Given the description of an element on the screen output the (x, y) to click on. 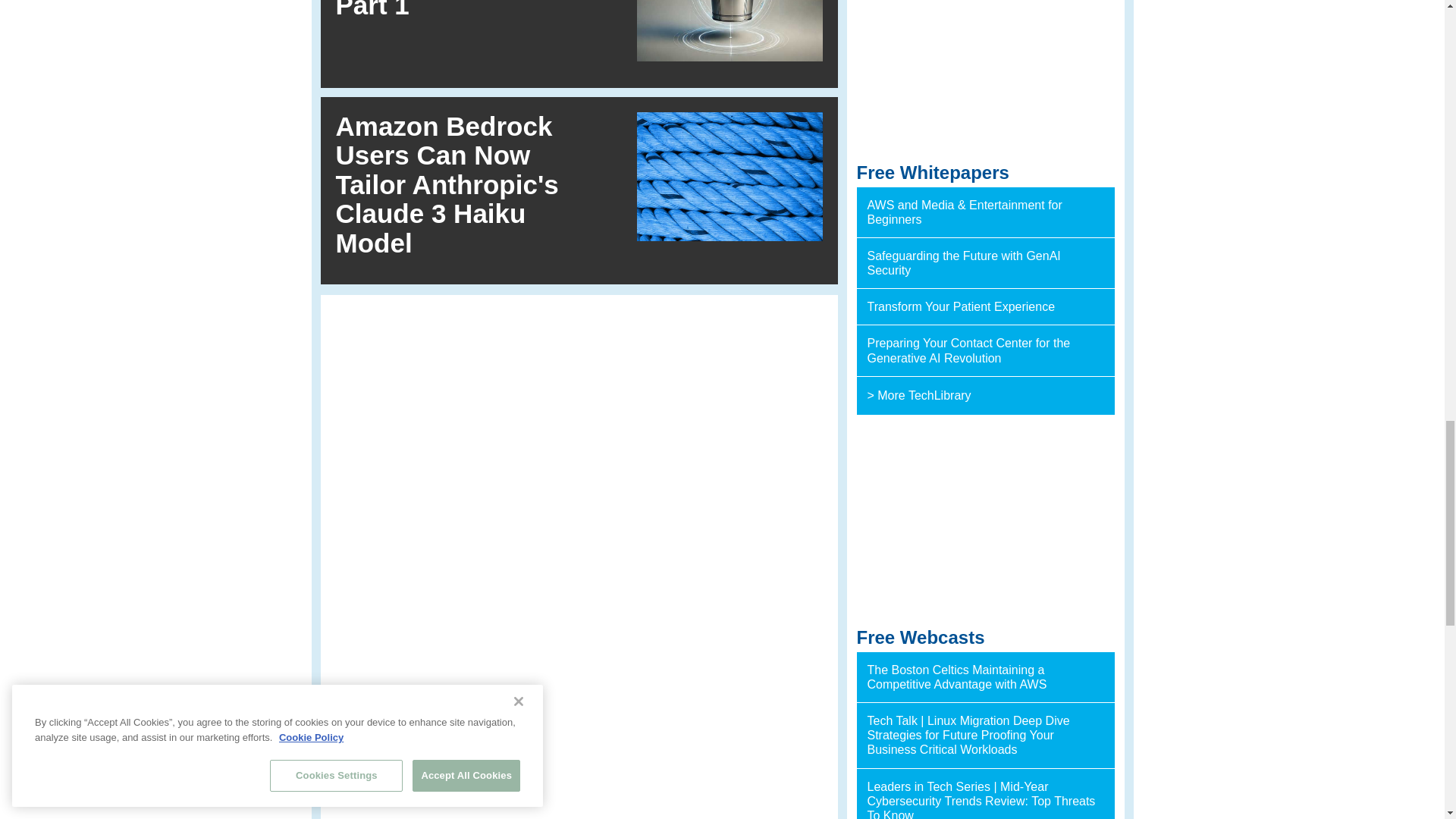
3rd party ad content (985, 521)
Scanning Amazon S3 Buckets for Malware, Part 1 (469, 9)
3rd party ad content (985, 75)
